Given the description of an element on the screen output the (x, y) to click on. 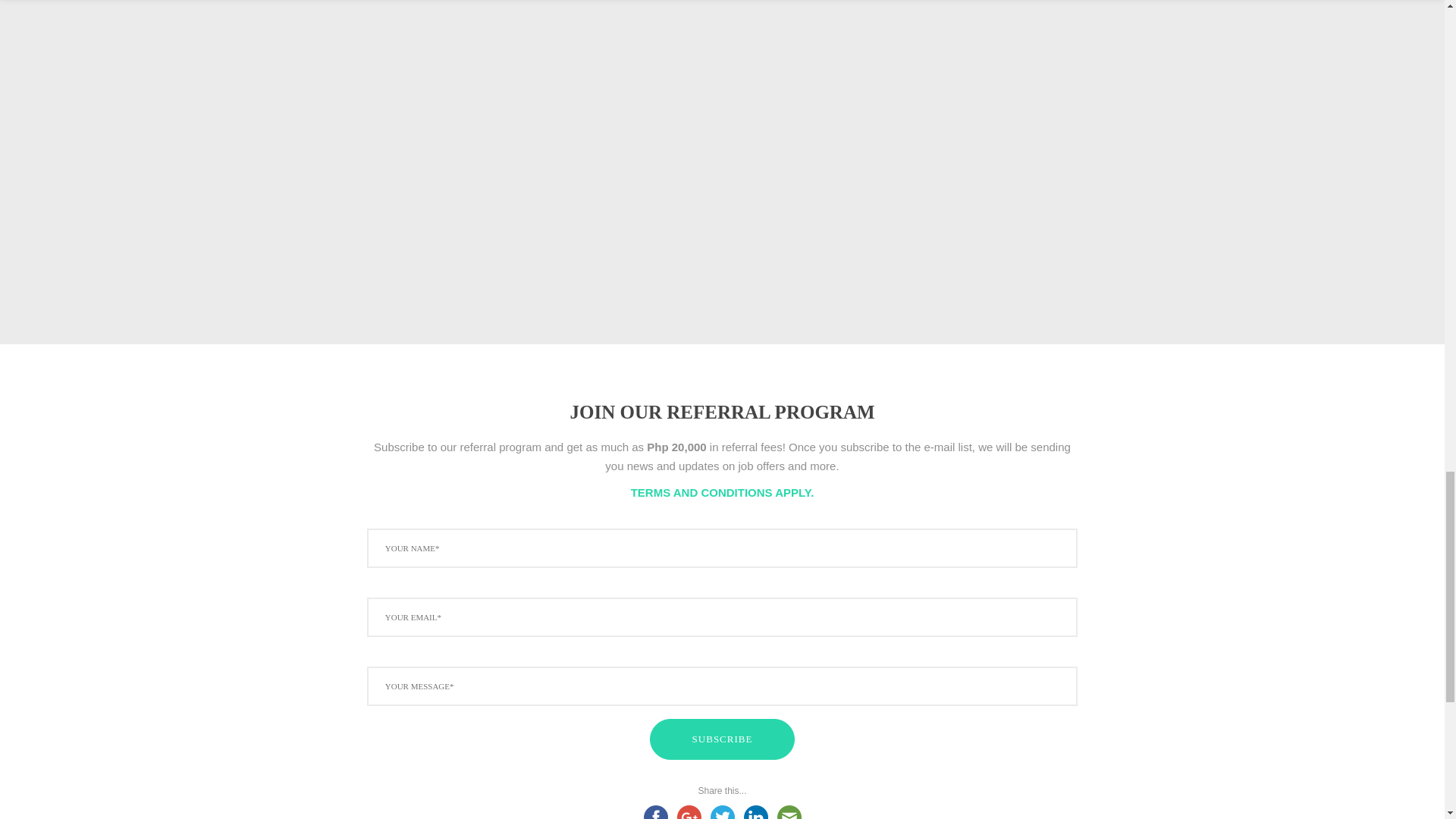
Facebook (655, 809)
Twitter (721, 809)
Email (788, 809)
SUBSCRIBE (721, 739)
LinkedIn (754, 809)
